Given the description of an element on the screen output the (x, y) to click on. 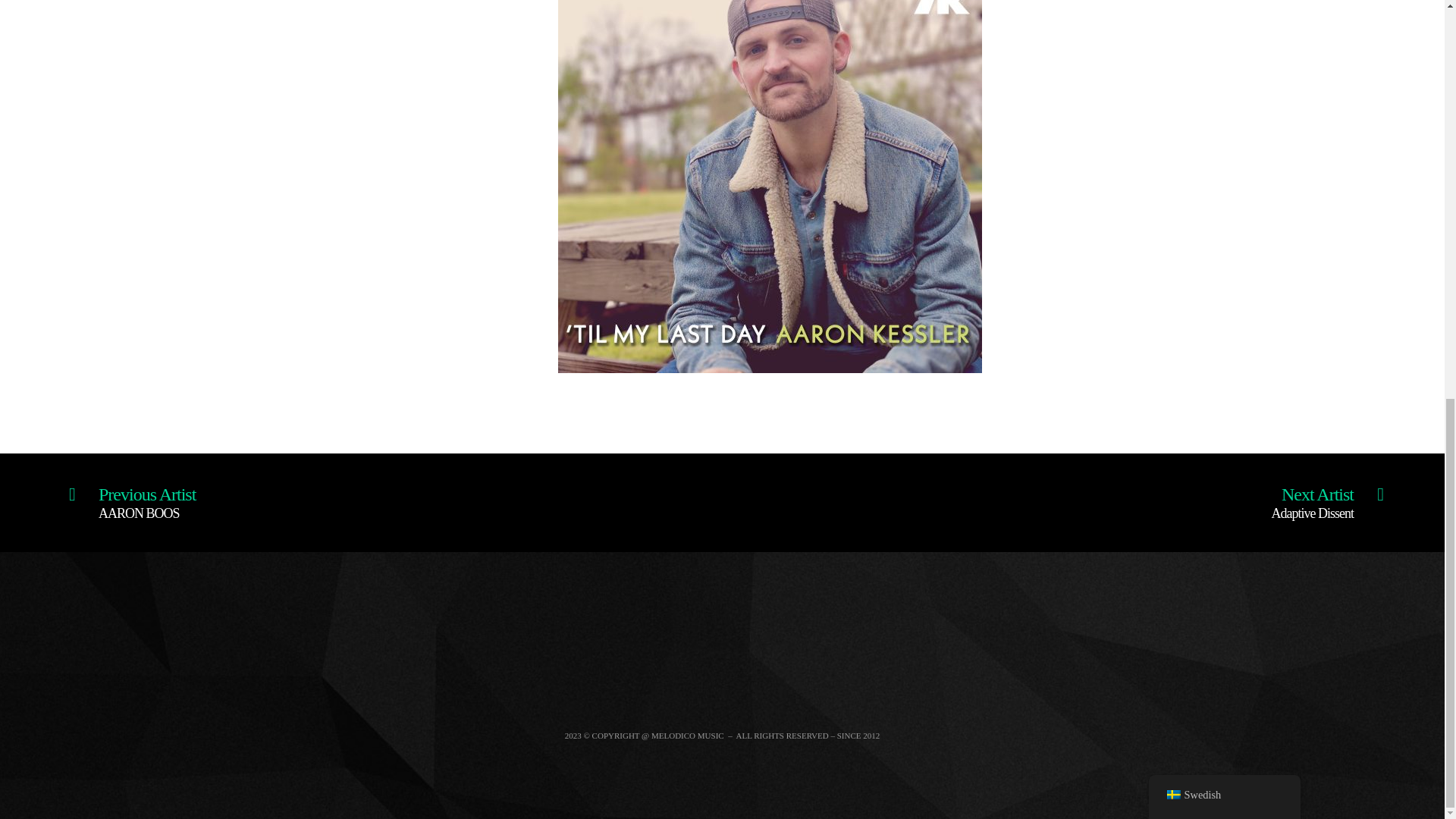
Aaron cover - 15 (1327, 498)
Swedish (131, 498)
